Given the description of an element on the screen output the (x, y) to click on. 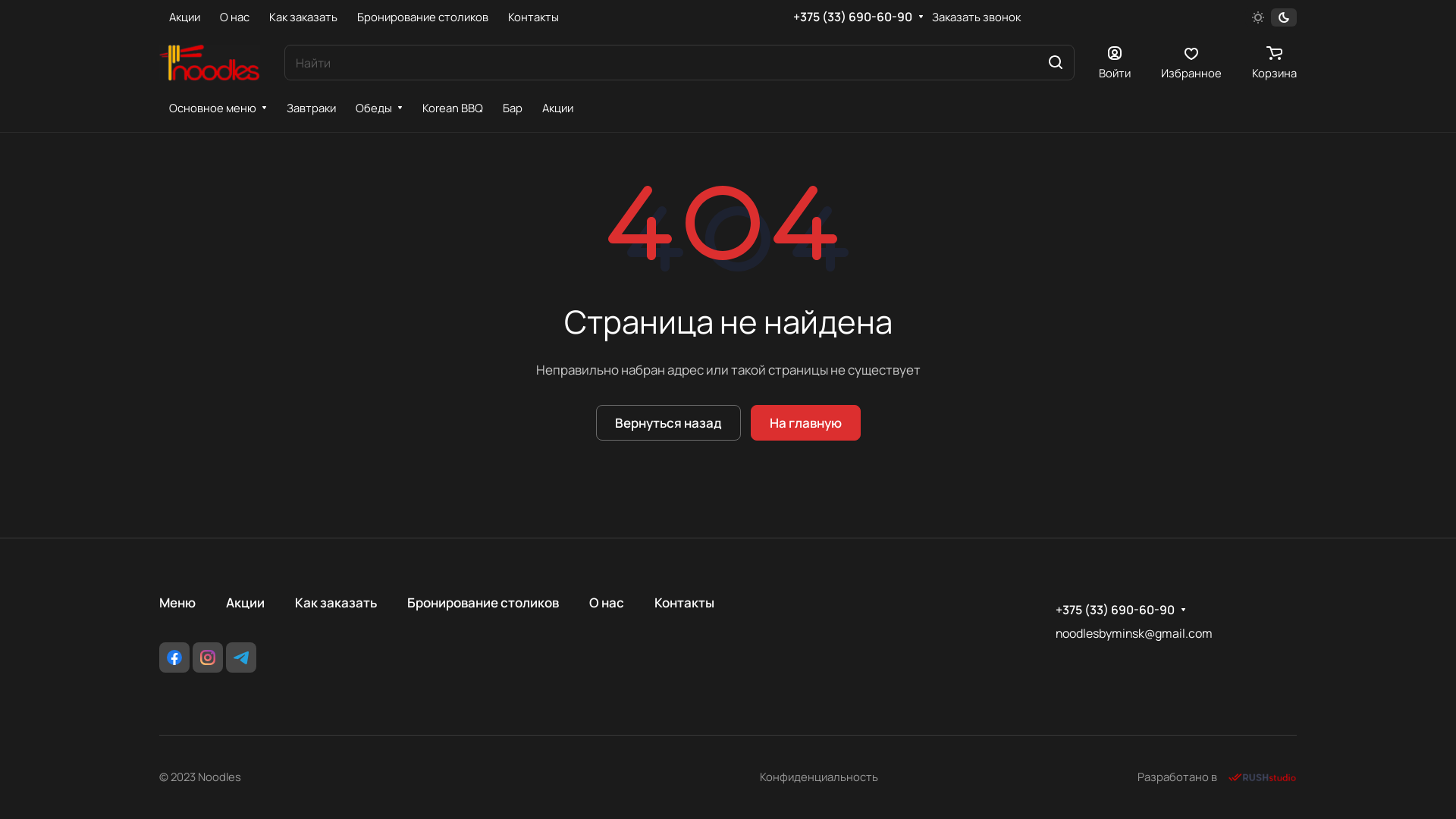
Noodles.by Element type: hover (209, 62)
+375 (33) 690-60-90 Element type: text (1114, 609)
noodlesbyminsk@gmail.com Element type: text (1133, 632)
Korean BBQ Element type: text (452, 108)
Facebook Element type: hover (174, 657)
Telegram Element type: hover (240, 657)
+375 (33) 690-60-90 Element type: text (852, 16)
Instagram Element type: hover (207, 657)
